Given the description of an element on the screen output the (x, y) to click on. 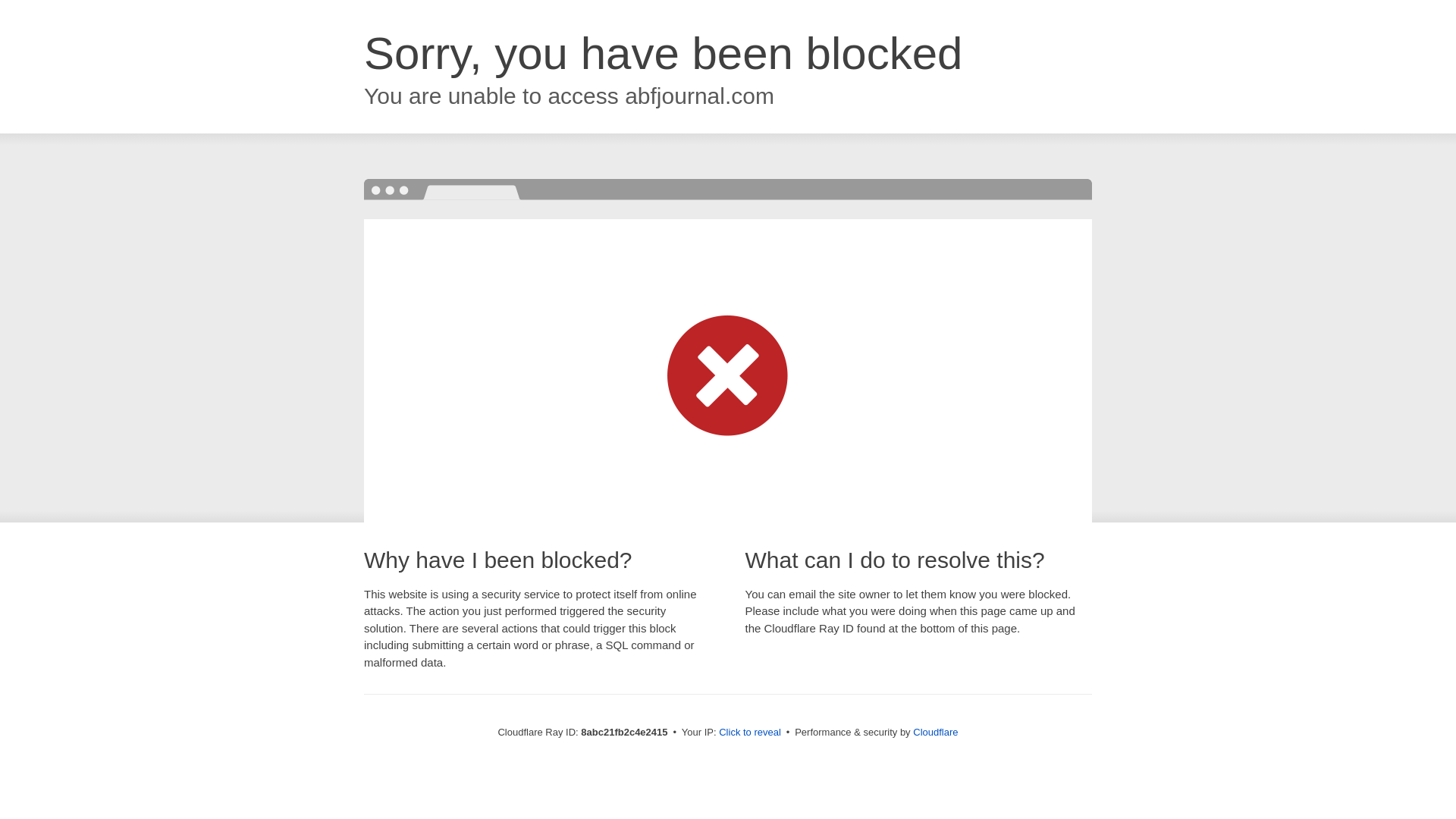
Cloudflare (935, 731)
Click to reveal (749, 732)
